Given the description of an element on the screen output the (x, y) to click on. 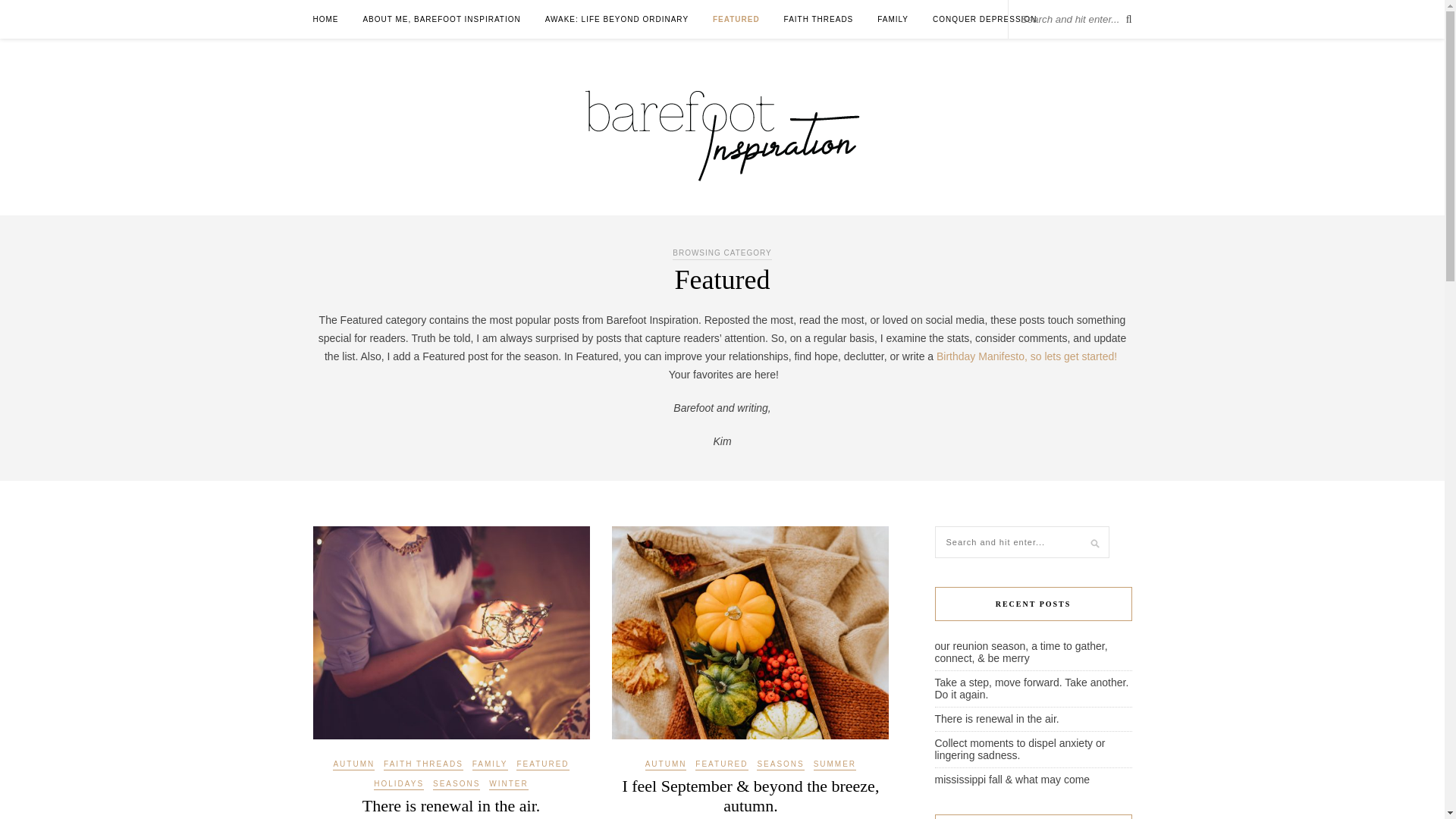
View all posts in Winter (508, 784)
View all posts in Autumn (353, 765)
View all posts in Autumn (666, 765)
View all posts in Summer (834, 765)
FAITH THREADS (818, 19)
There is renewal in the air. (451, 805)
SEASONS (780, 765)
View all posts in Featured (721, 765)
FEATURED (721, 765)
SUMMER (834, 765)
View all posts in Seasons (780, 765)
CONQUER DEPRESSION (984, 19)
FEATURED (736, 19)
FAITH THREADS (423, 765)
View all posts in Family (489, 765)
